Given the description of an element on the screen output the (x, y) to click on. 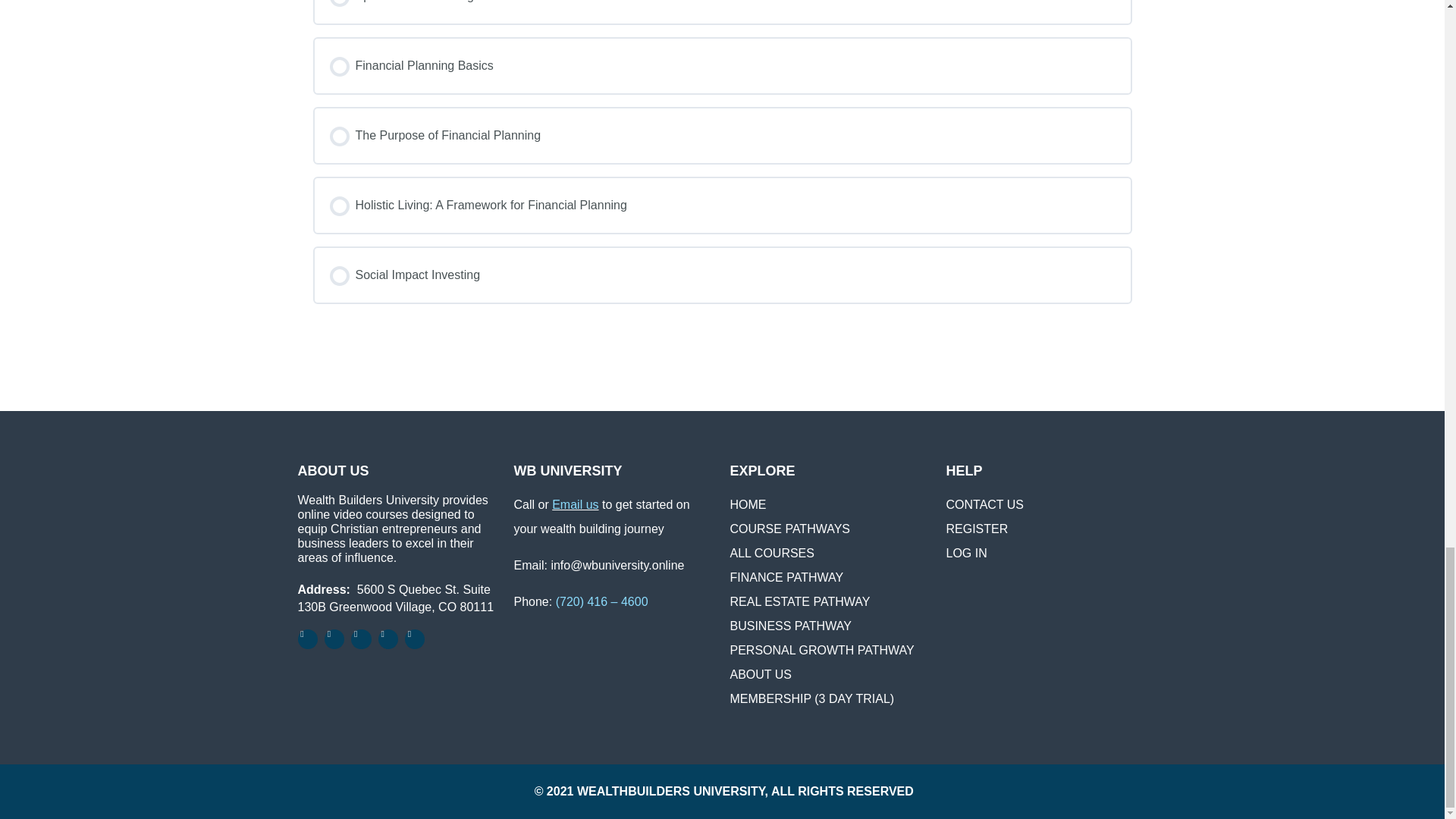
ALL COURSES (771, 553)
Social Impact Investing (722, 274)
COURSE PATHWAYS (789, 528)
The Purpose of Financial Planning (722, 135)
HOME (747, 504)
Financial Planning Basics (722, 65)
Email us (574, 504)
Holistic Living: A Framework for Financial Planning (722, 205)
